Given the description of an element on the screen output the (x, y) to click on. 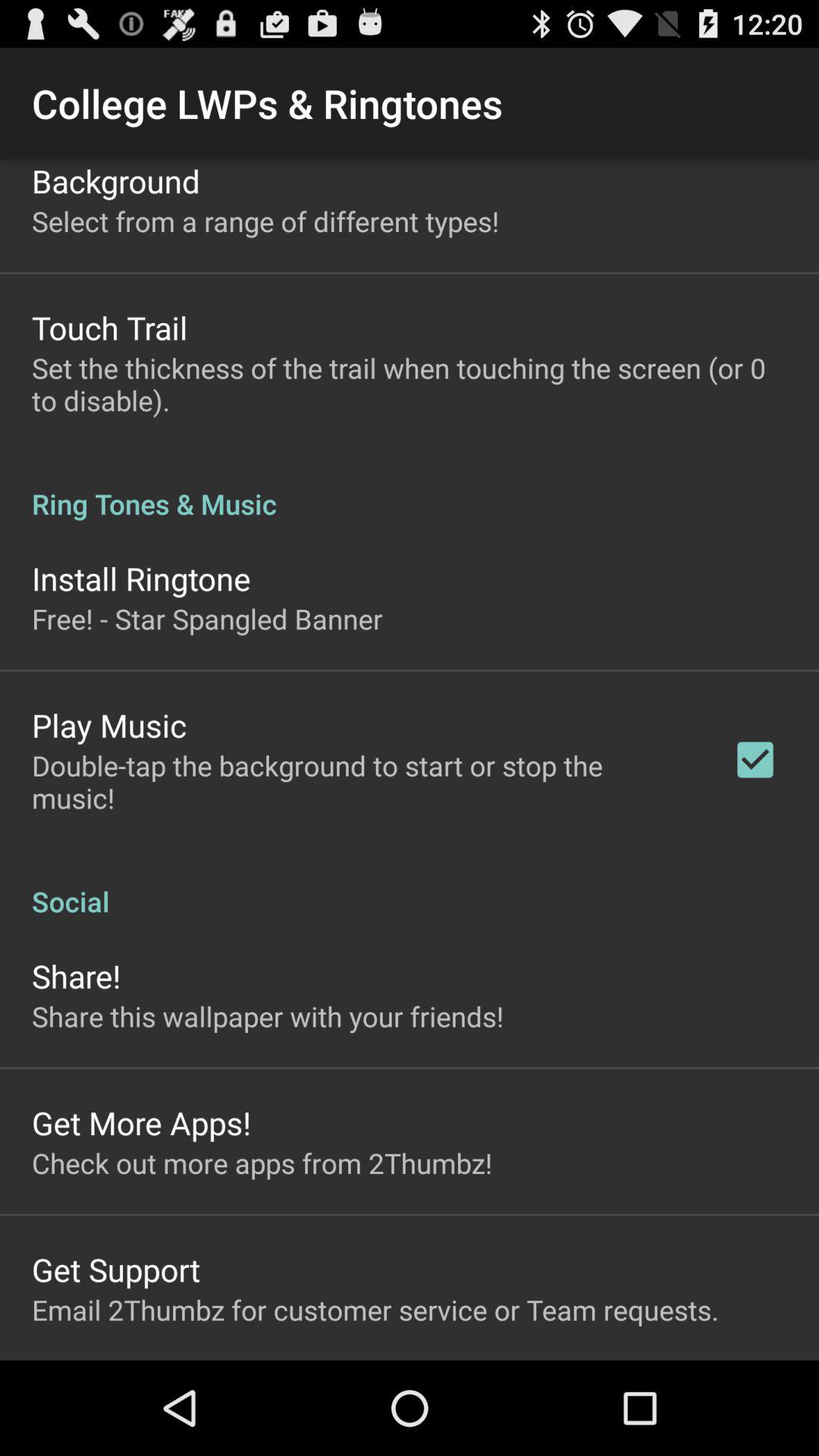
choose icon above the social item (755, 759)
